Given the description of an element on the screen output the (x, y) to click on. 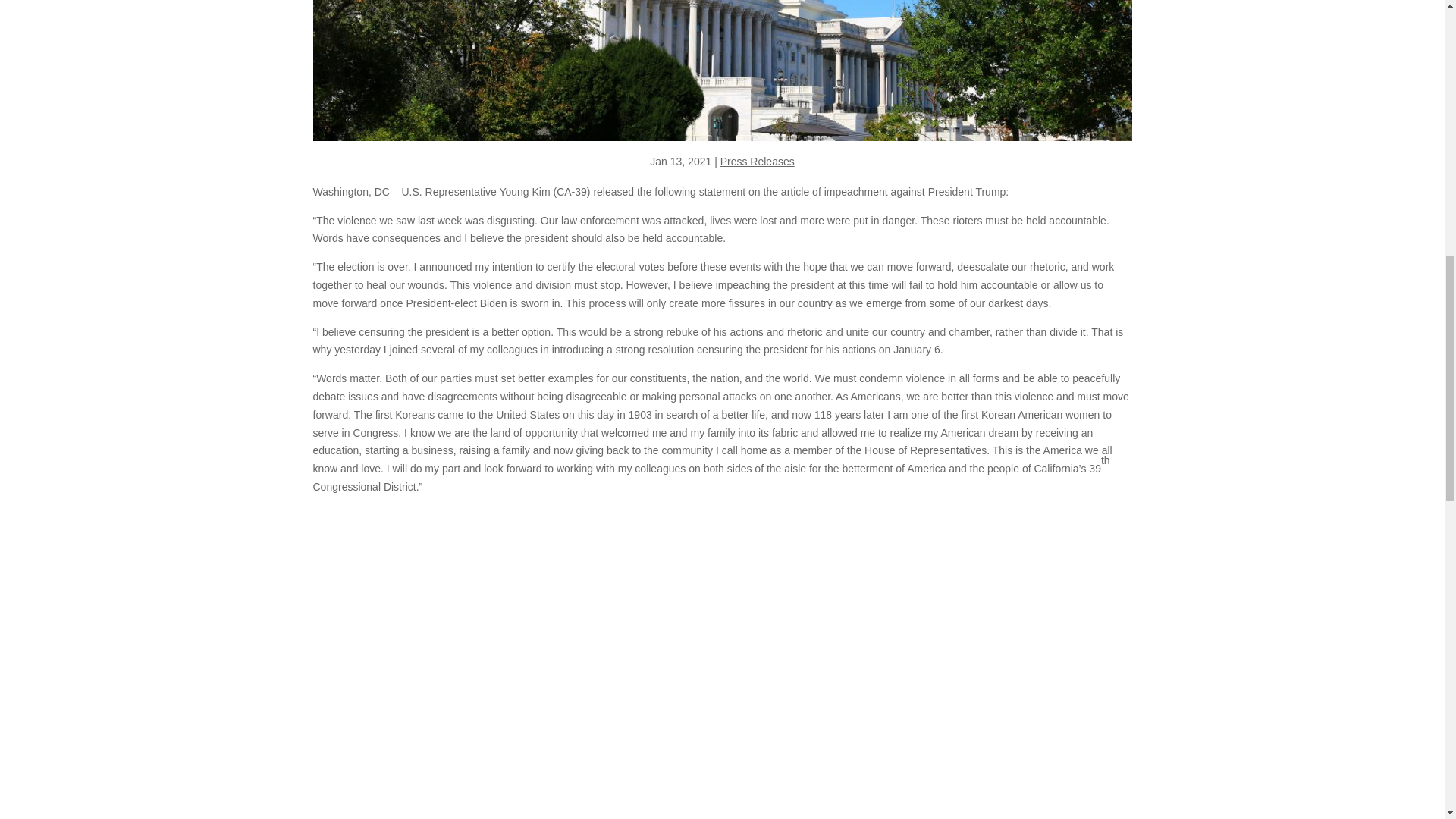
Tree-lined side of the Capitol building (722, 70)
